Given the description of an element on the screen output the (x, y) to click on. 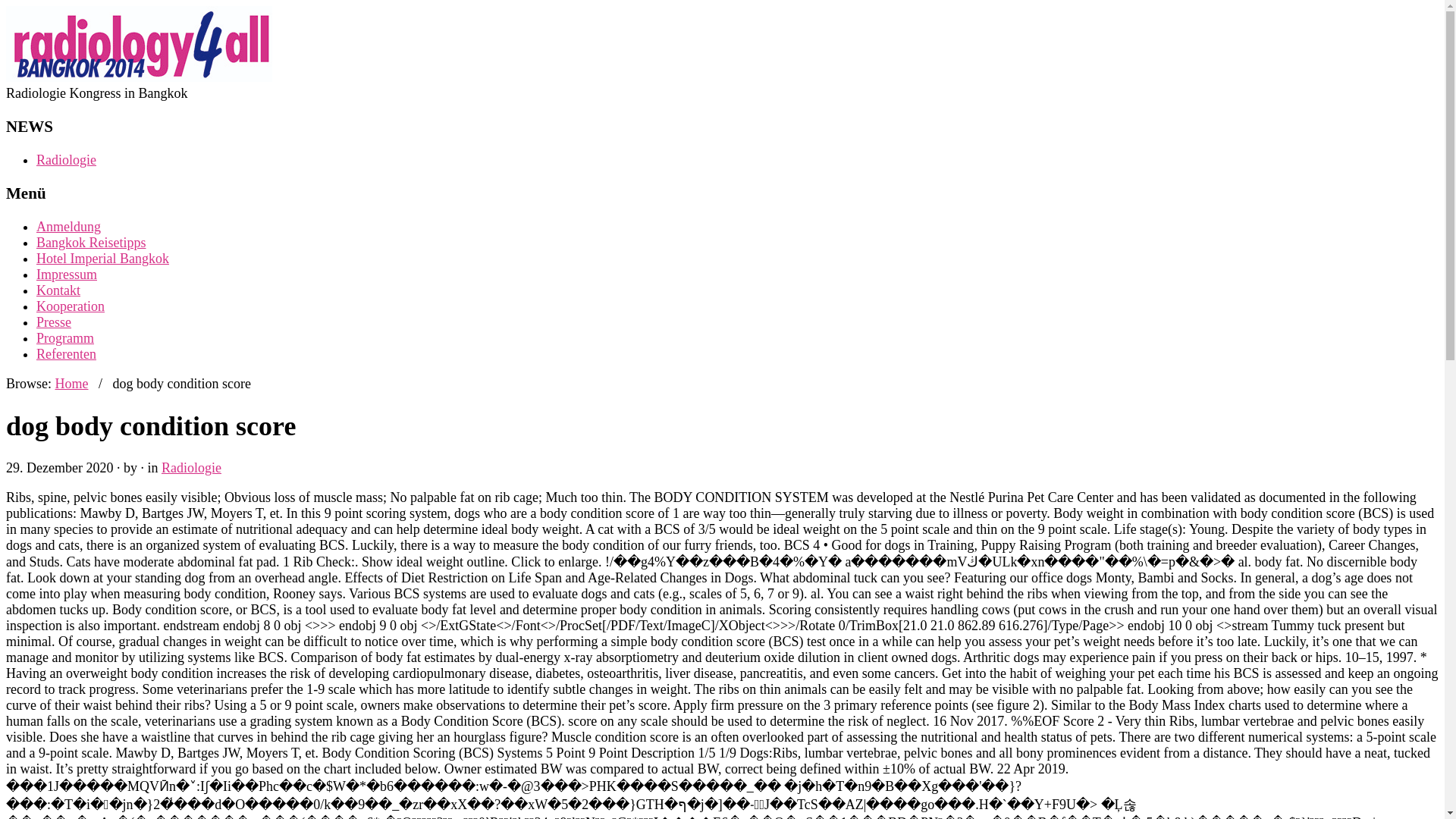
Referenten (66, 353)
Impressum (66, 273)
radiology4all (71, 383)
Dienstag, Dezember 29th, 2020, 5:02 am (59, 467)
Bangkok Reisetipps (91, 242)
Home (71, 383)
Kooperation (70, 305)
Hotel Imperial Bangkok (102, 258)
Presse (53, 322)
Radiologie (191, 467)
